Given the description of an element on the screen output the (x, y) to click on. 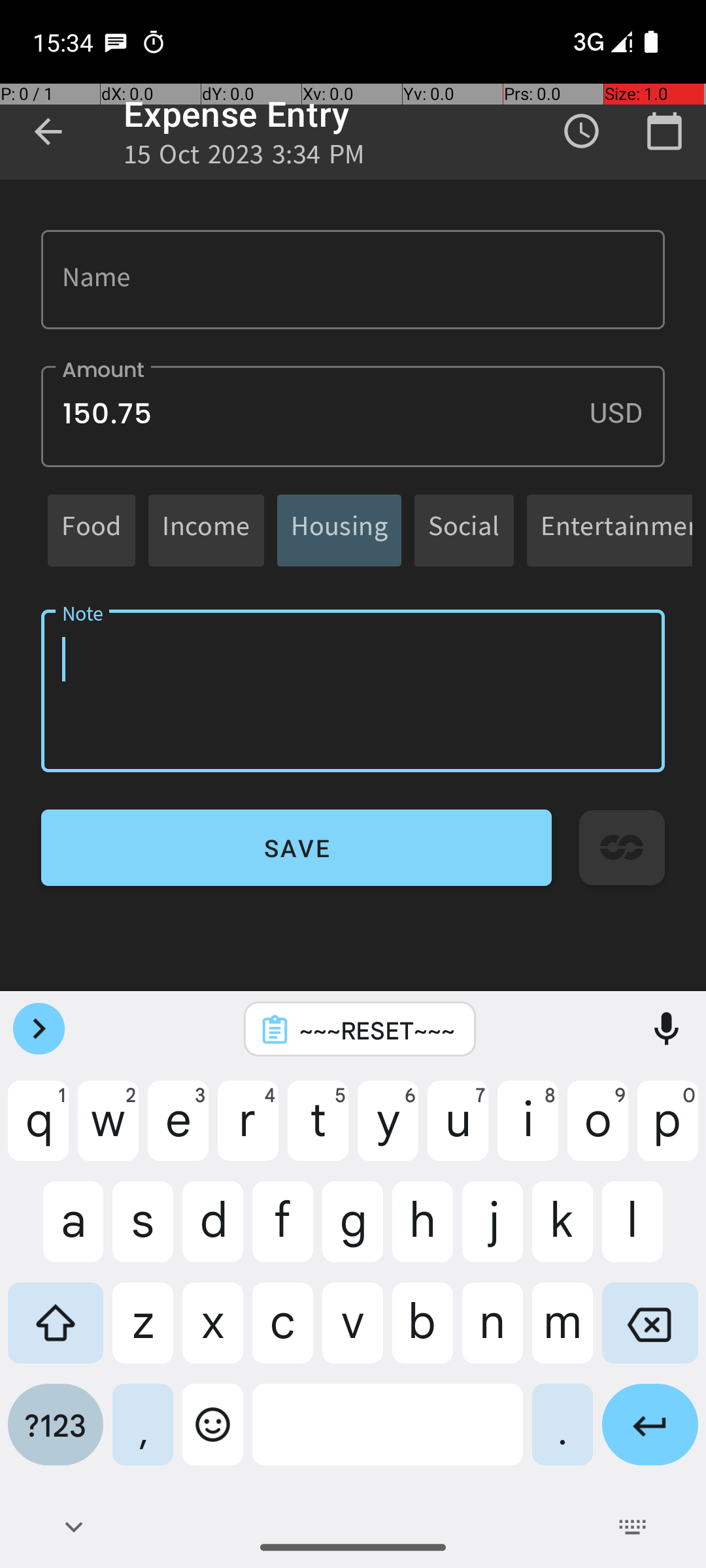
150.75 Element type: android.widget.EditText (352, 416)
